Given the description of an element on the screen output the (x, y) to click on. 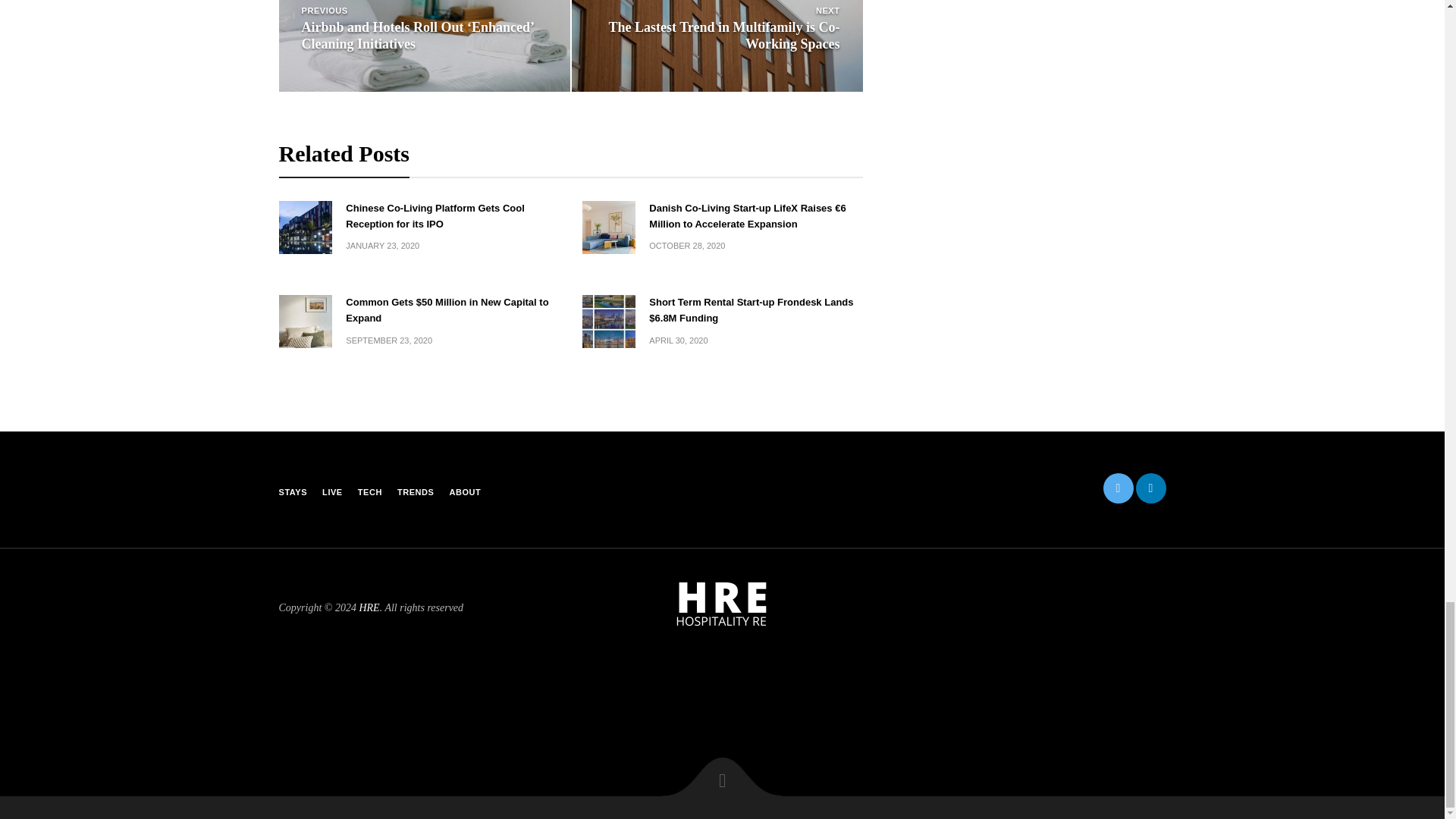
HRE (721, 604)
